Given the description of an element on the screen output the (x, y) to click on. 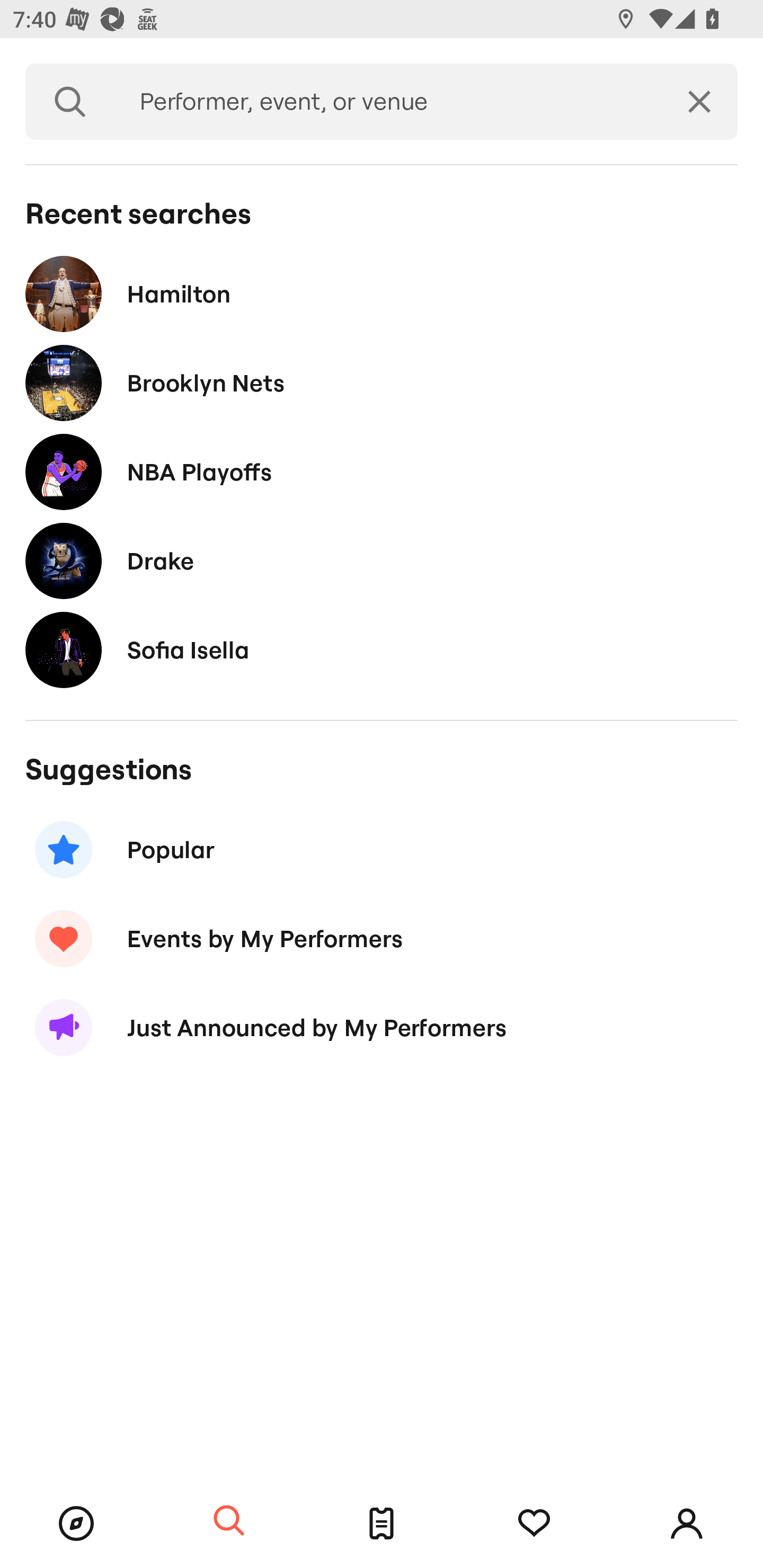
Search (69, 101)
Performer, event, or venue (387, 101)
Clear (699, 101)
Hamilton (381, 293)
Brooklyn Nets (381, 383)
NBA Playoffs (381, 471)
Drake (381, 560)
Sofia Isella (381, 649)
Popular (381, 849)
Events by My Performers (381, 938)
Just Announced by My Performers (381, 1027)
Browse (76, 1523)
Search (228, 1521)
Tickets (381, 1523)
Tracking (533, 1523)
Account (686, 1523)
